Given the description of an element on the screen output the (x, y) to click on. 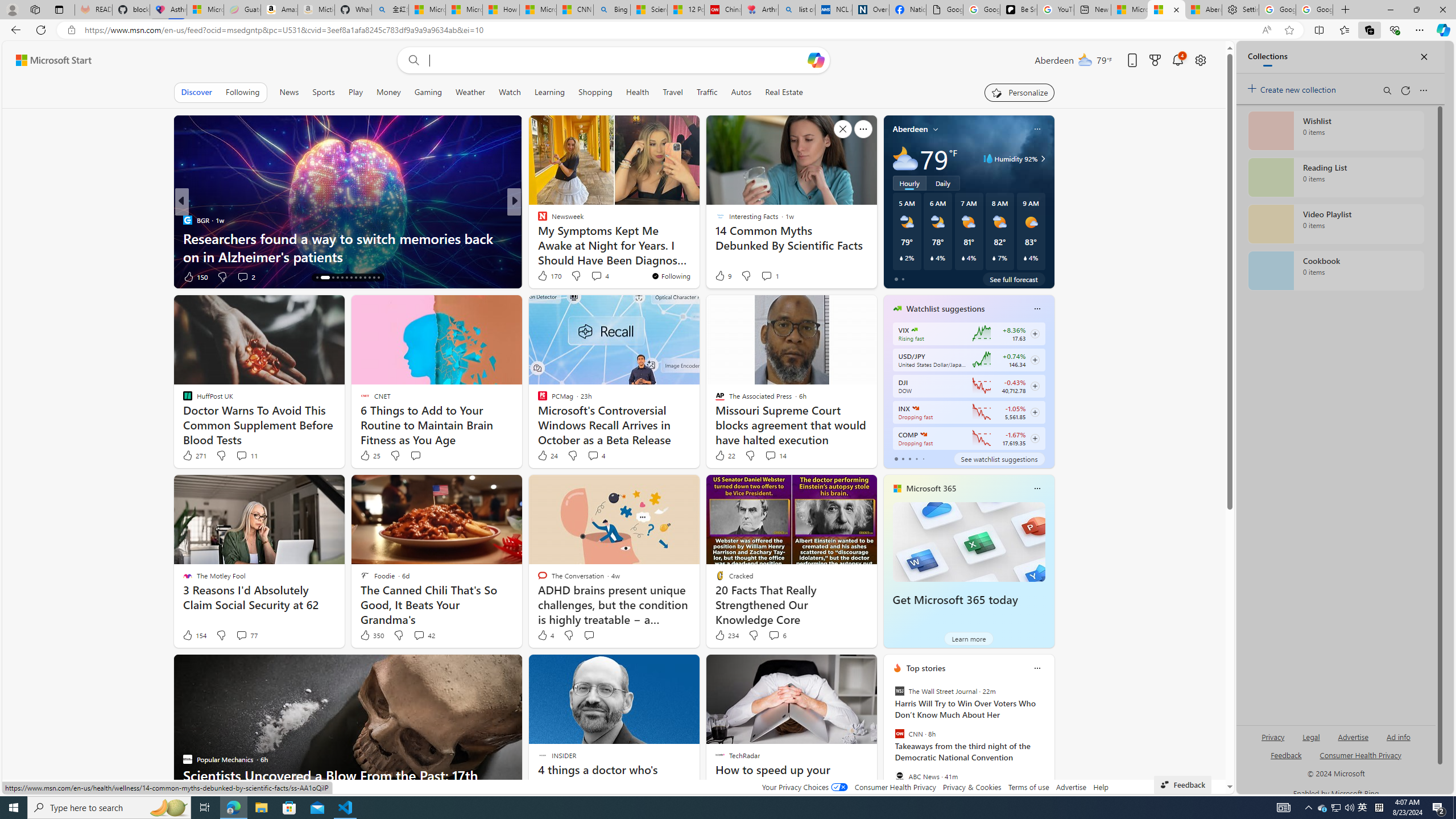
Popular Mechanics (537, 219)
previous (888, 741)
236 Like (545, 276)
tab-3 (916, 458)
View comments 34 Comment (592, 276)
24 Like (546, 455)
